Given the description of an element on the screen output the (x, y) to click on. 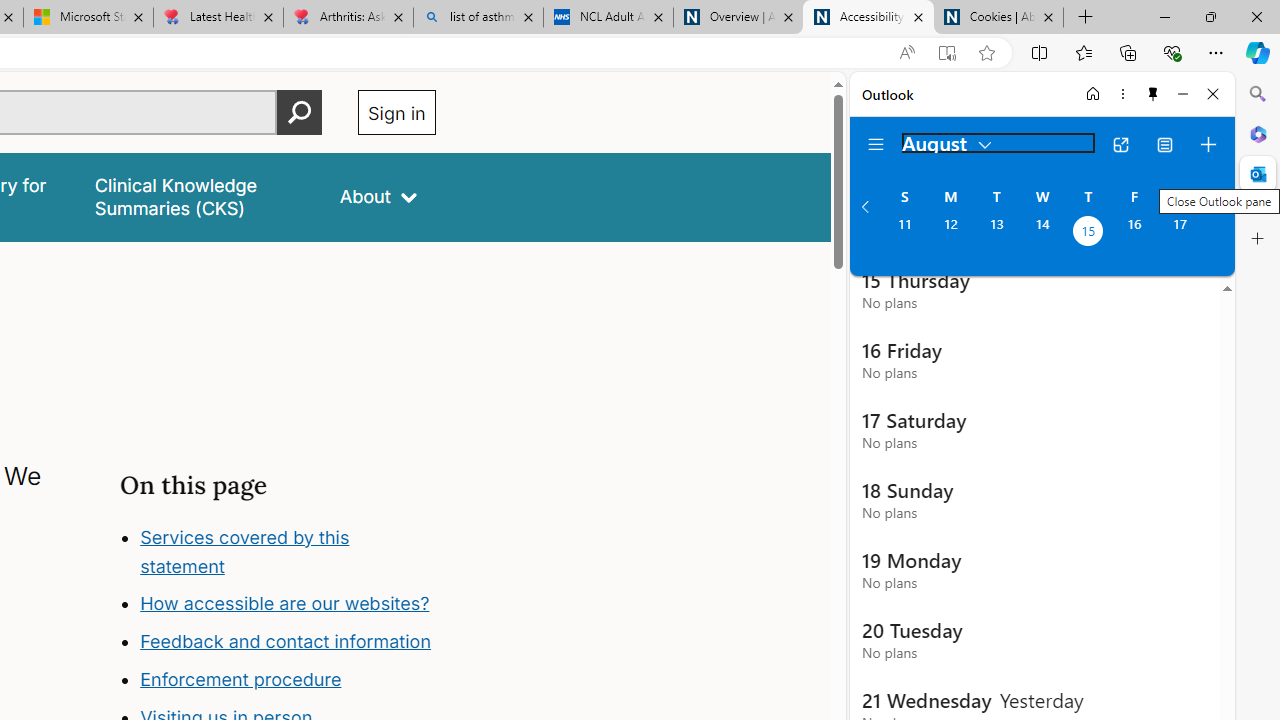
Sign in (396, 112)
August (948, 141)
list of asthma inhalers uk - Search (477, 17)
Feedback and contact information (287, 642)
Monday, August 12, 2024.  (950, 233)
Cookies | About | NICE (998, 17)
Folder navigation (876, 144)
How accessible are our websites? (284, 603)
Perform search (299, 112)
Enter Immersive Reader (F9) (946, 53)
